Given the description of an element on the screen output the (x, y) to click on. 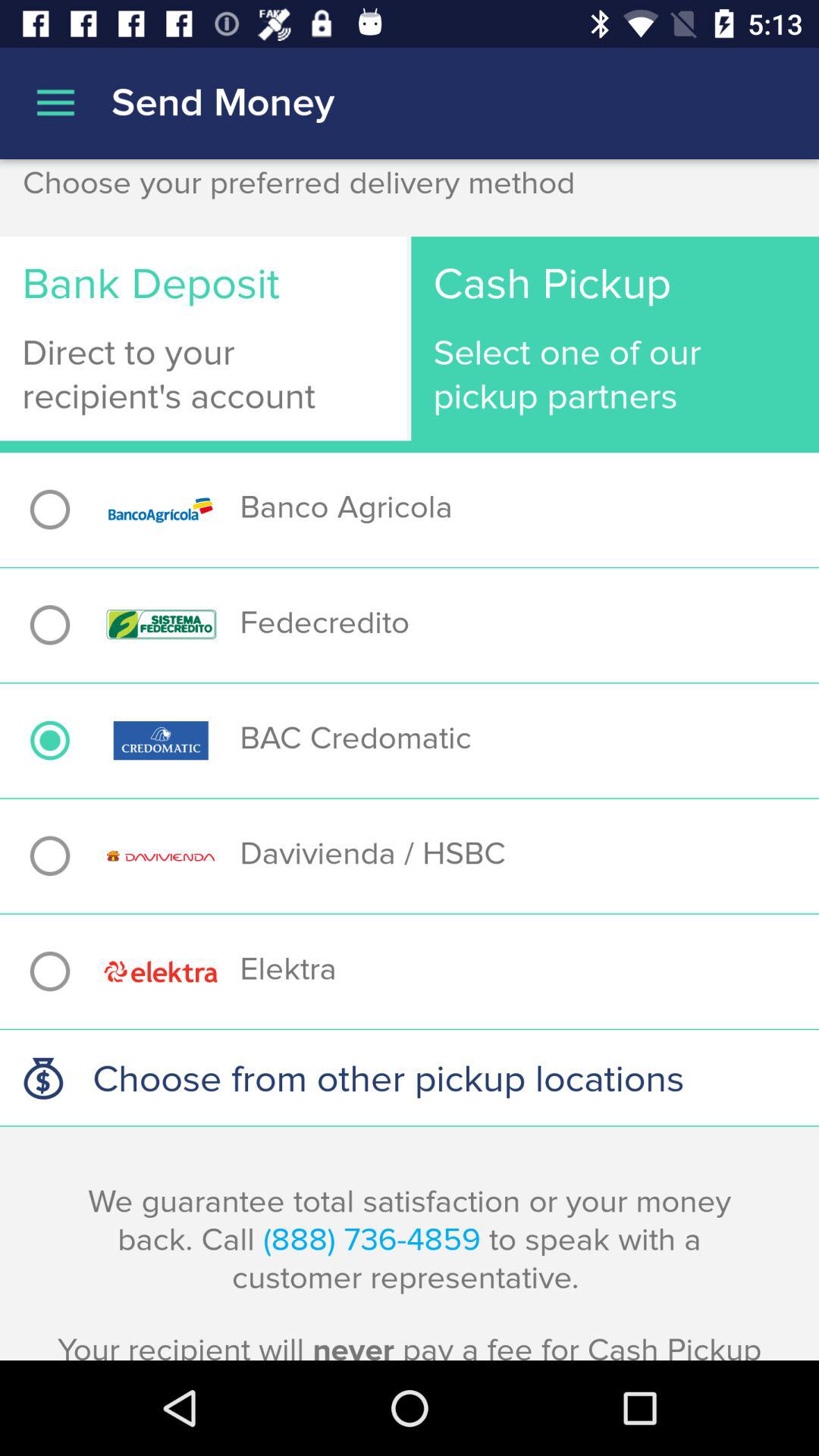
choose the we guarantee total app (409, 1271)
